Given the description of an element on the screen output the (x, y) to click on. 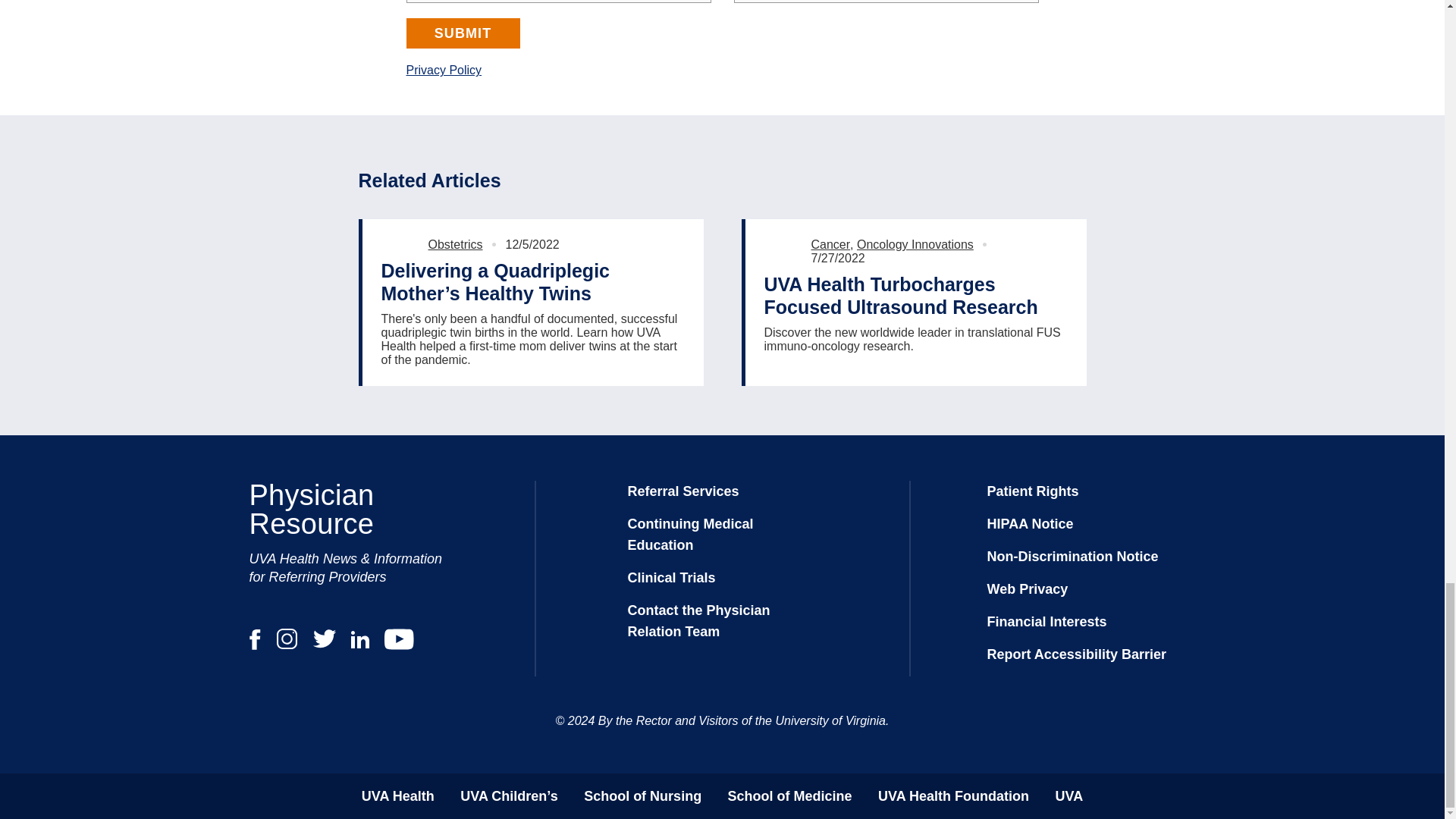
Oncology Innovations (915, 244)
Referral Services (683, 491)
Patient Rights (1032, 491)
Continuing Medical Education (690, 534)
Cancer (830, 244)
UVA Health Turbocharges Focused Ultrasound Research (915, 295)
Submit (462, 33)
Financial Interests (1046, 621)
Submit (462, 33)
